Given the description of an element on the screen output the (x, y) to click on. 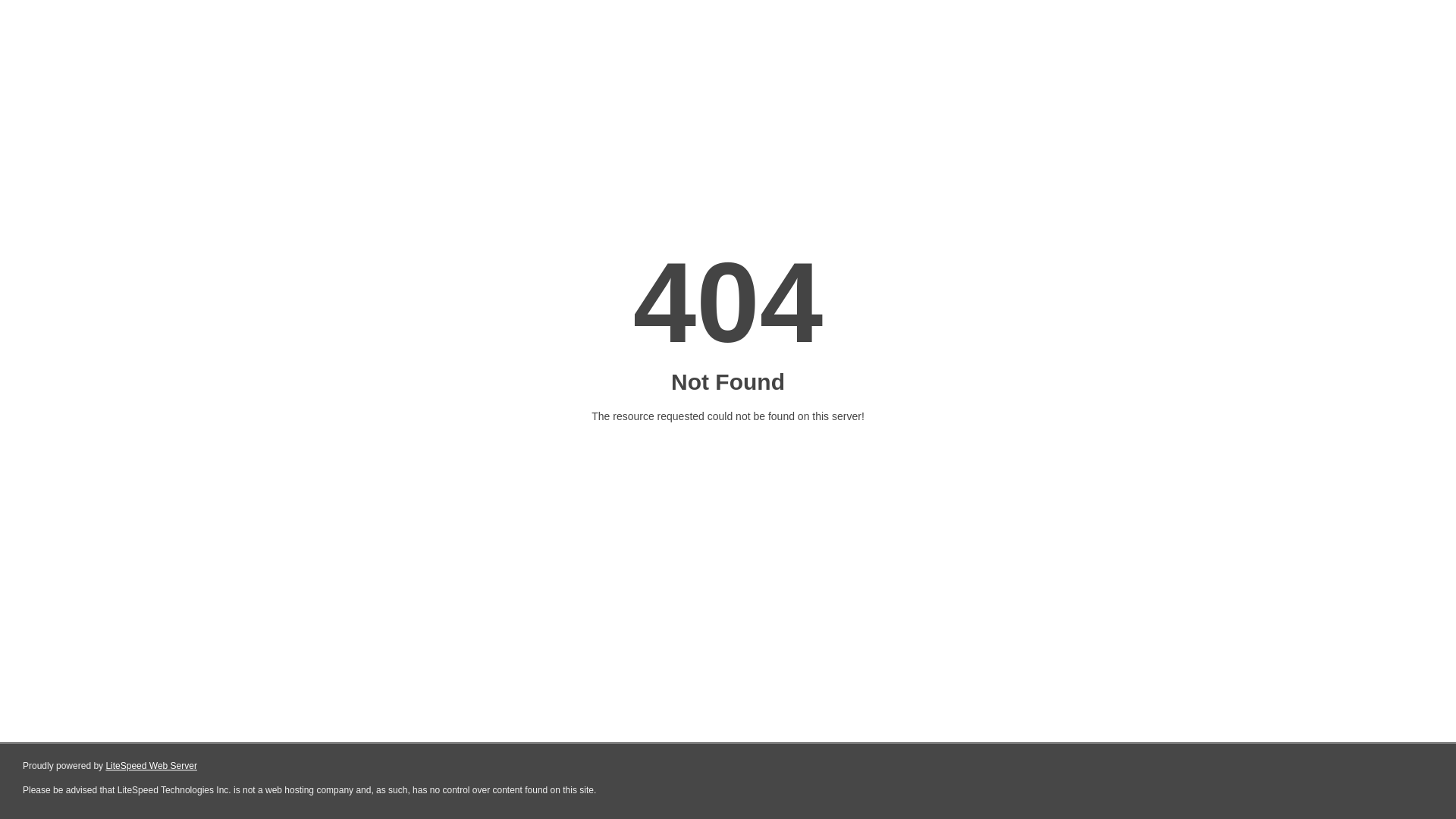
LiteSpeed Web Server Element type: text (151, 765)
